Given the description of an element on the screen output the (x, y) to click on. 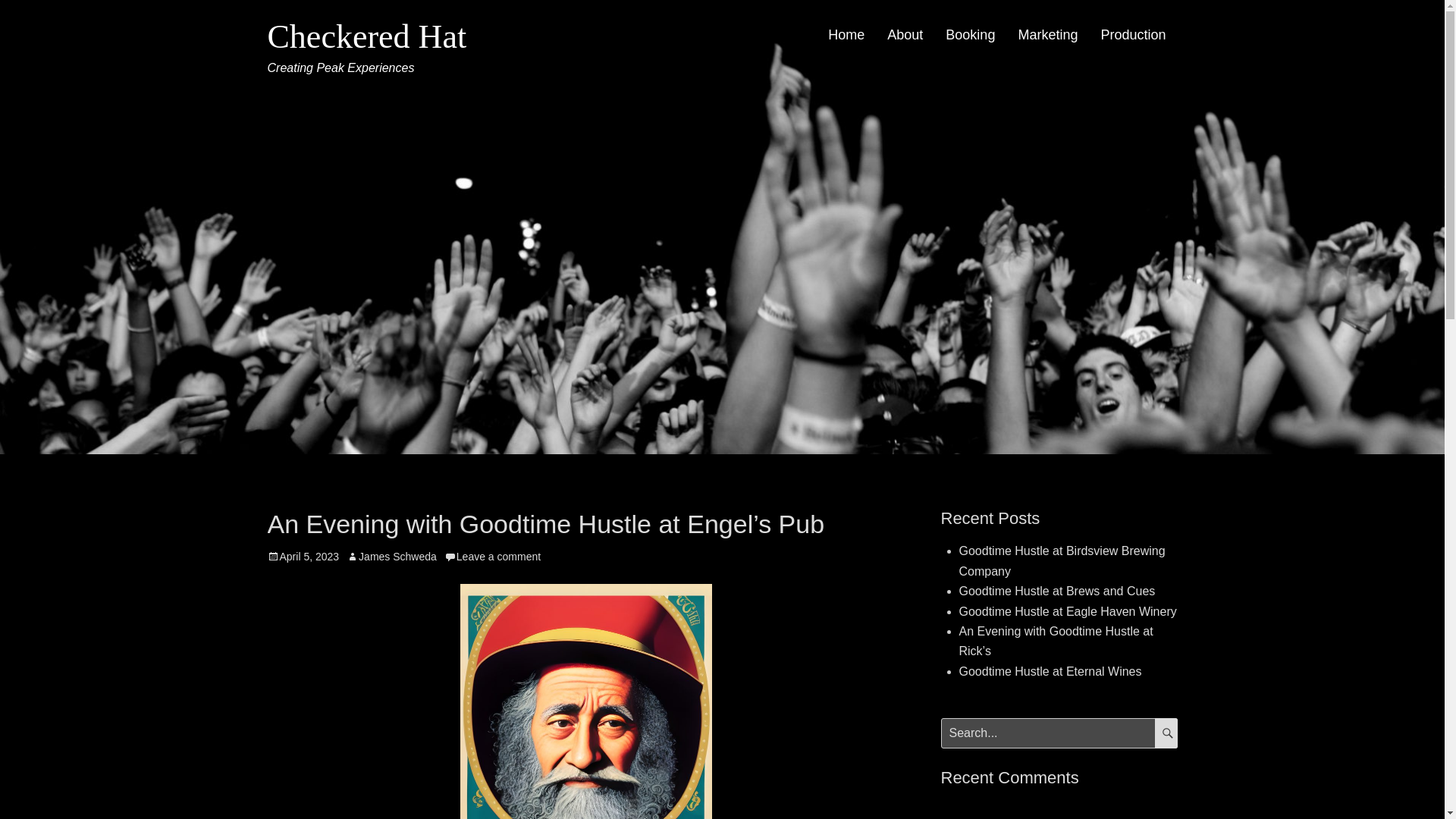
Search for: (1058, 733)
Checkered Hat (365, 36)
Booking (970, 35)
James Schweda (391, 556)
April 5, 2023 (302, 556)
Goodtime Hustle at Eternal Wines (1049, 671)
Goodtime Hustle at Birdsview Brewing Company (1061, 560)
Leave a comment (492, 556)
Production (1132, 35)
Goodtime Hustle at Brews and Cues (1056, 590)
